Given the description of an element on the screen output the (x, y) to click on. 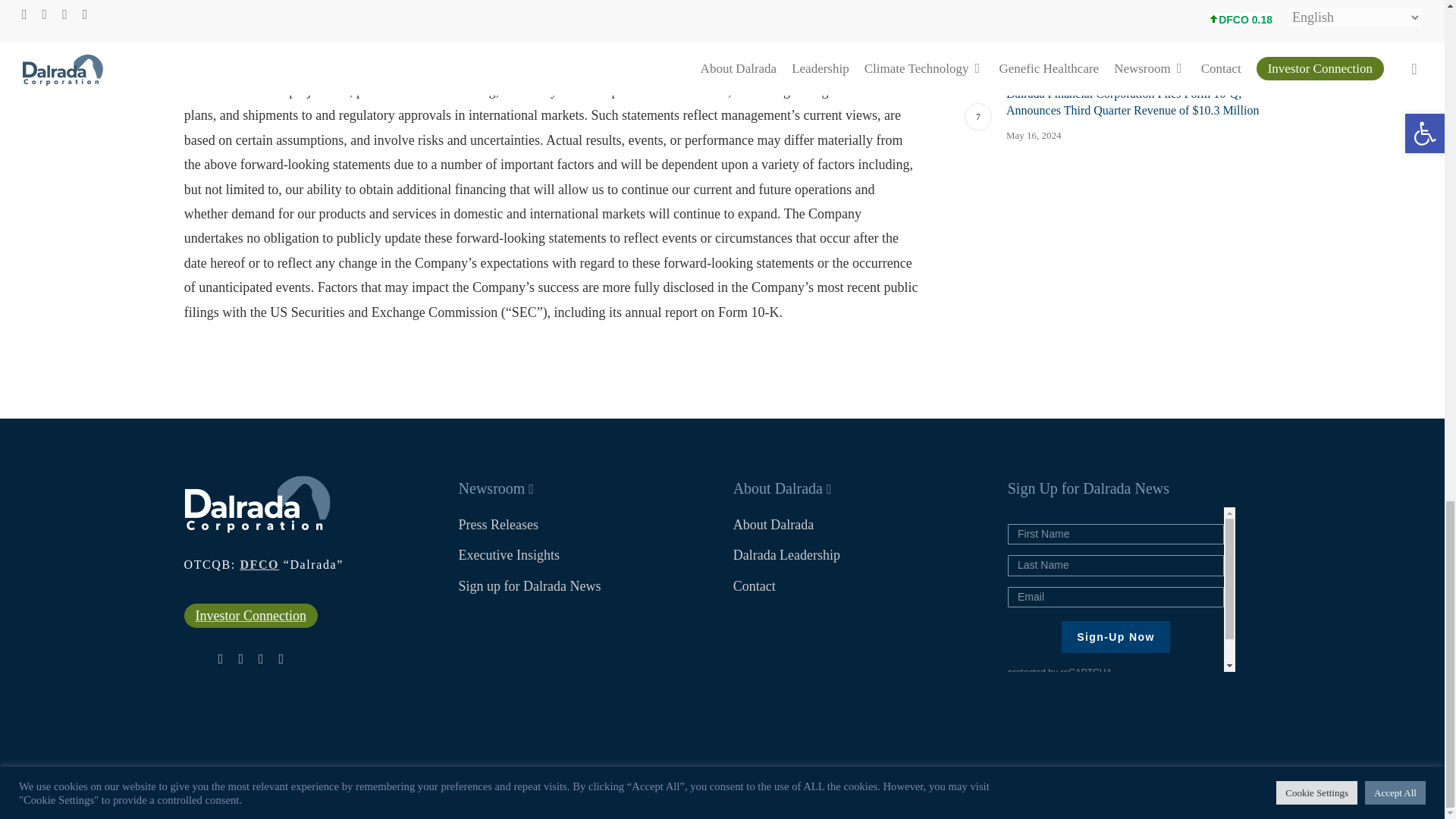
Sign Up for Dalrada News (1120, 588)
